Given the description of an element on the screen output the (x, y) to click on. 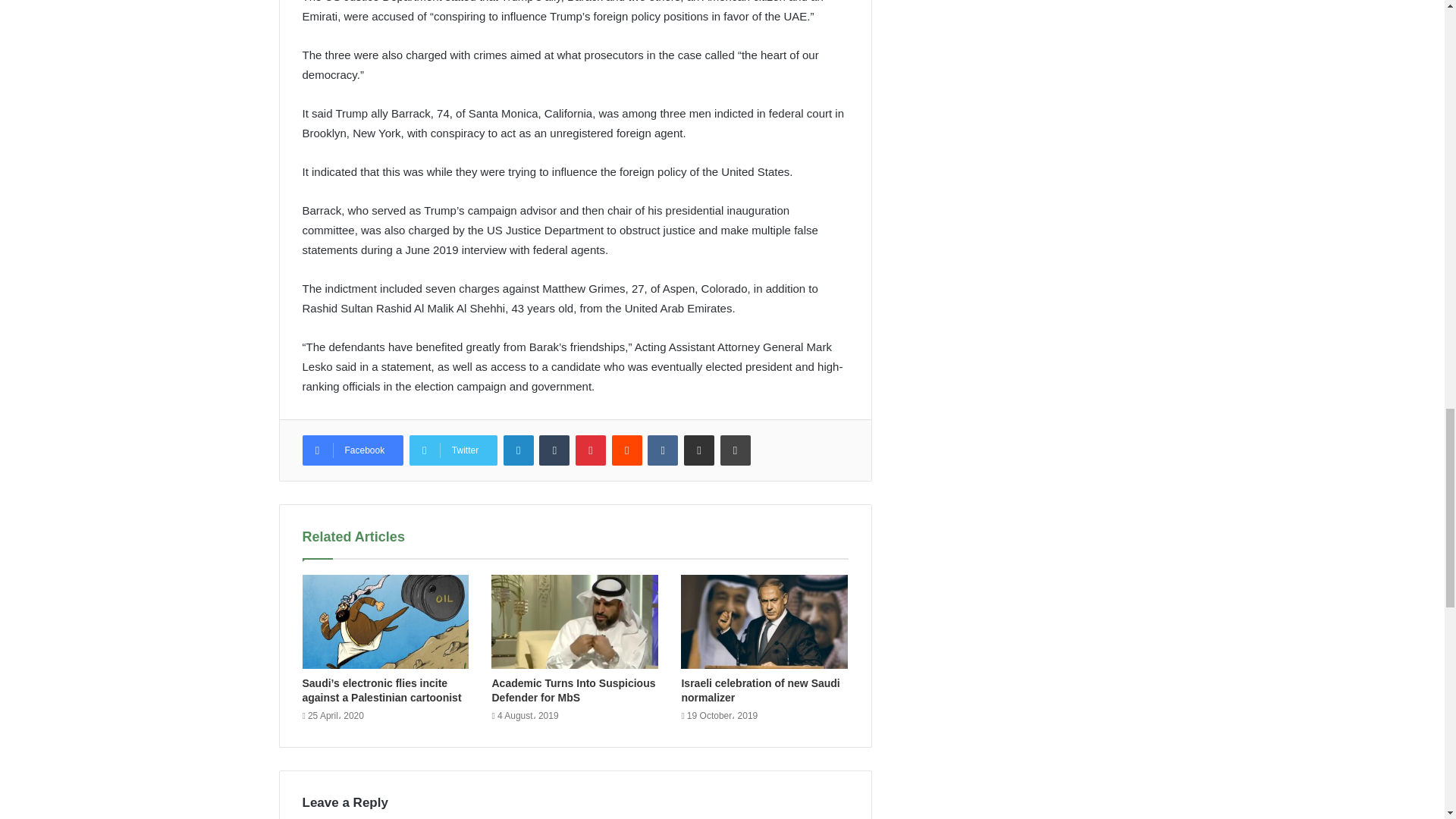
Academic Turns Into Suspicious Defender for MbS (573, 690)
Print (735, 450)
Tumblr (553, 450)
Pinterest (590, 450)
Pinterest (590, 450)
Reddit (626, 450)
VKontakte (662, 450)
Facebook (352, 450)
Facebook (352, 450)
Twitter (453, 450)
